Given the description of an element on the screen output the (x, y) to click on. 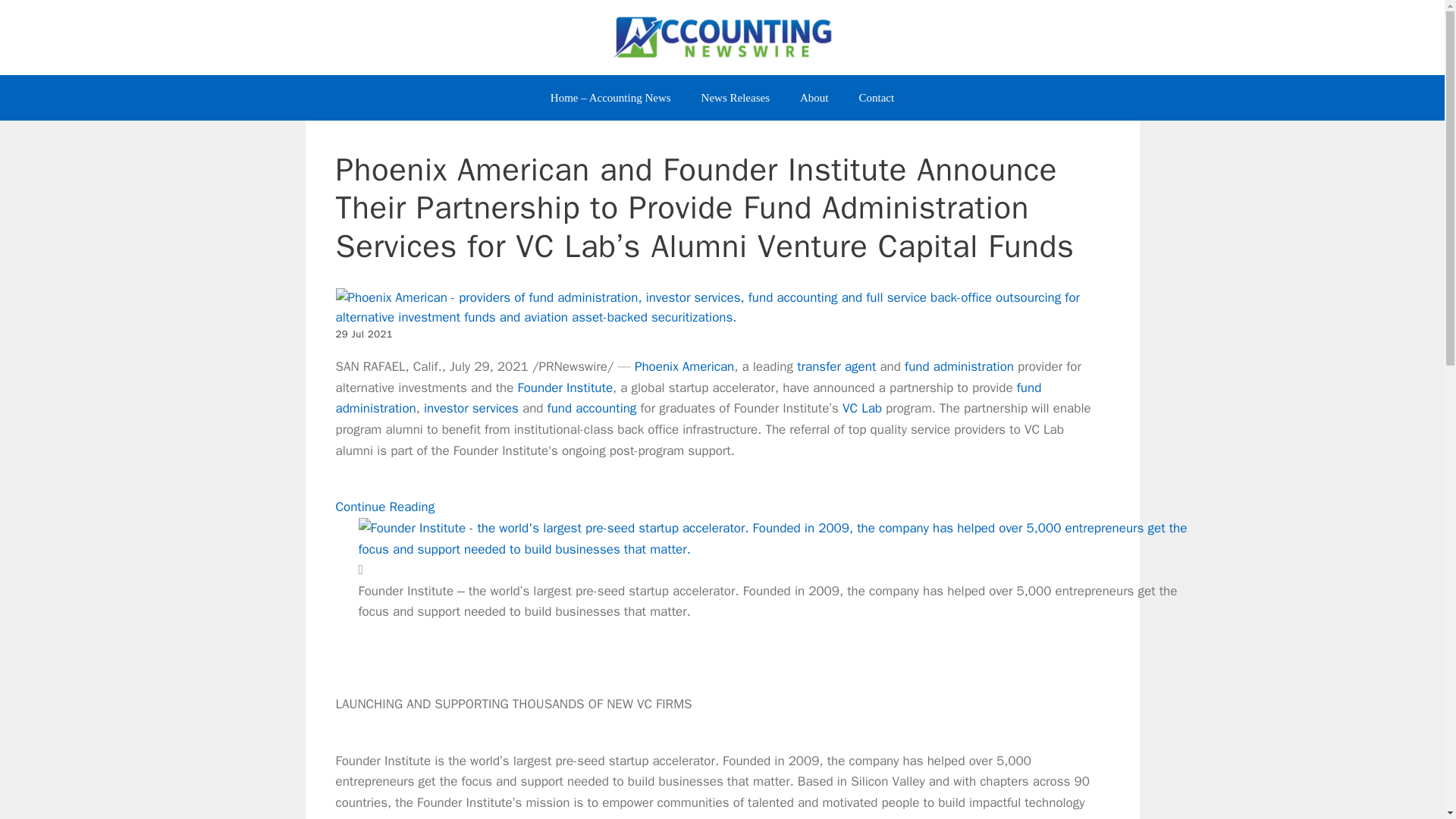
Phoenix American (683, 366)
Continue Reading (383, 506)
transfer agent (836, 366)
fund administration (687, 398)
Continue Reading (383, 506)
Contact (875, 97)
Founder Institute (564, 387)
investor services (470, 408)
fund administration (958, 366)
fund accounting (592, 408)
VC Lab (862, 408)
News Releases (734, 97)
About (814, 97)
